Given the description of an element on the screen output the (x, y) to click on. 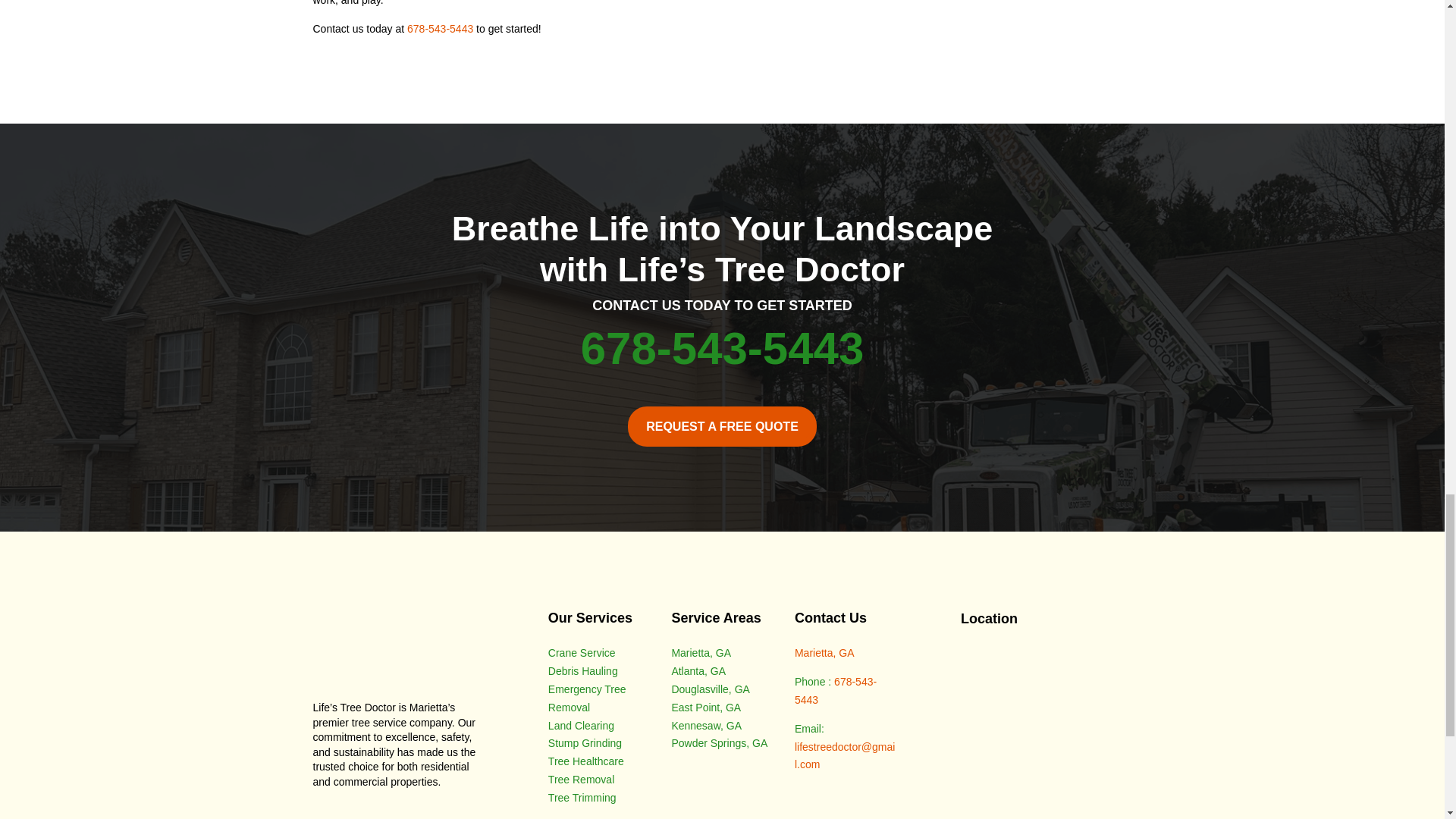
Follow on Facebook (324, 815)
Follow on LinkedIn (384, 815)
Follow on Youtube (354, 815)
